Given the description of an element on the screen output the (x, y) to click on. 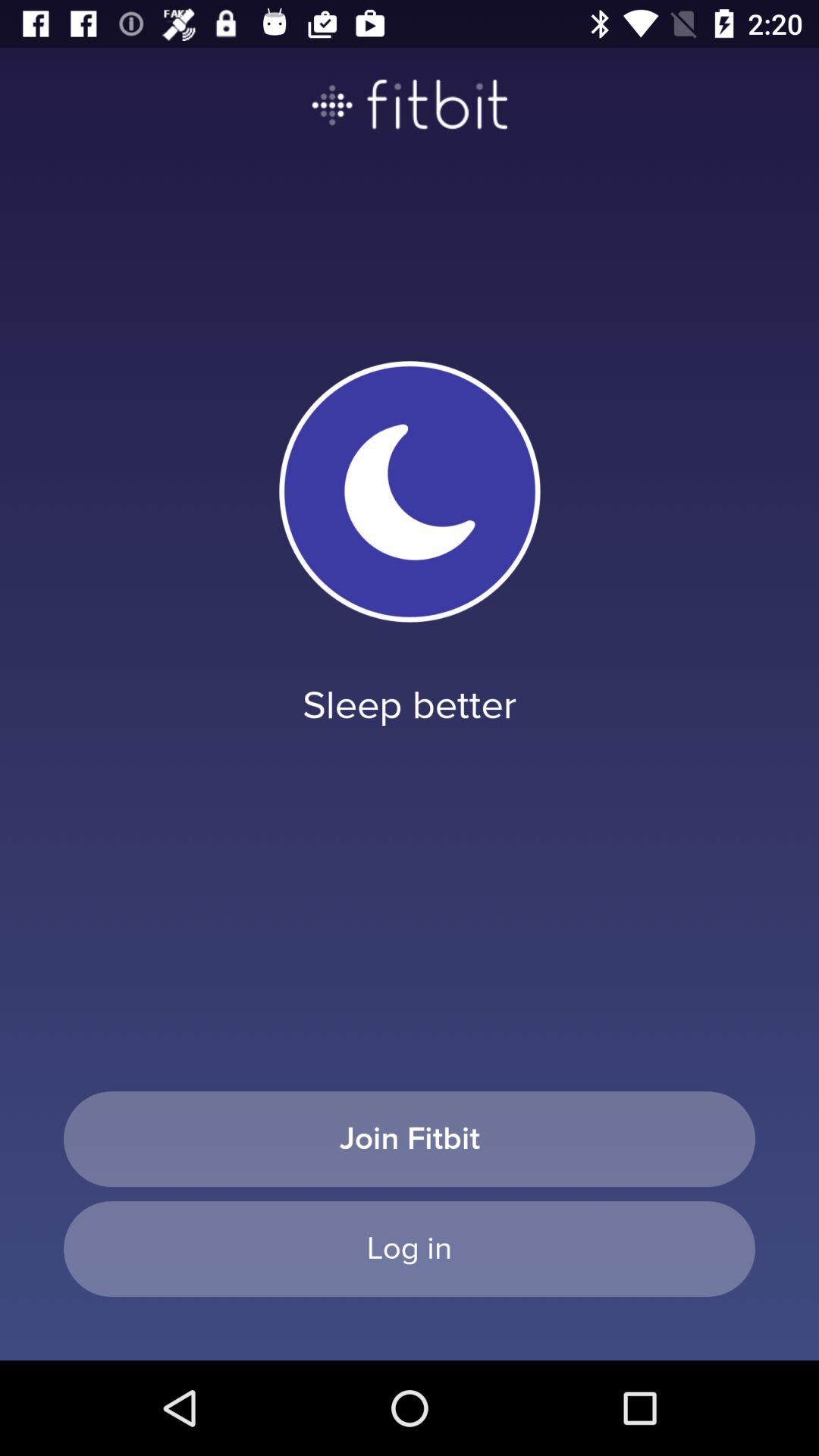
choose log in item (409, 1248)
